Given the description of an element on the screen output the (x, y) to click on. 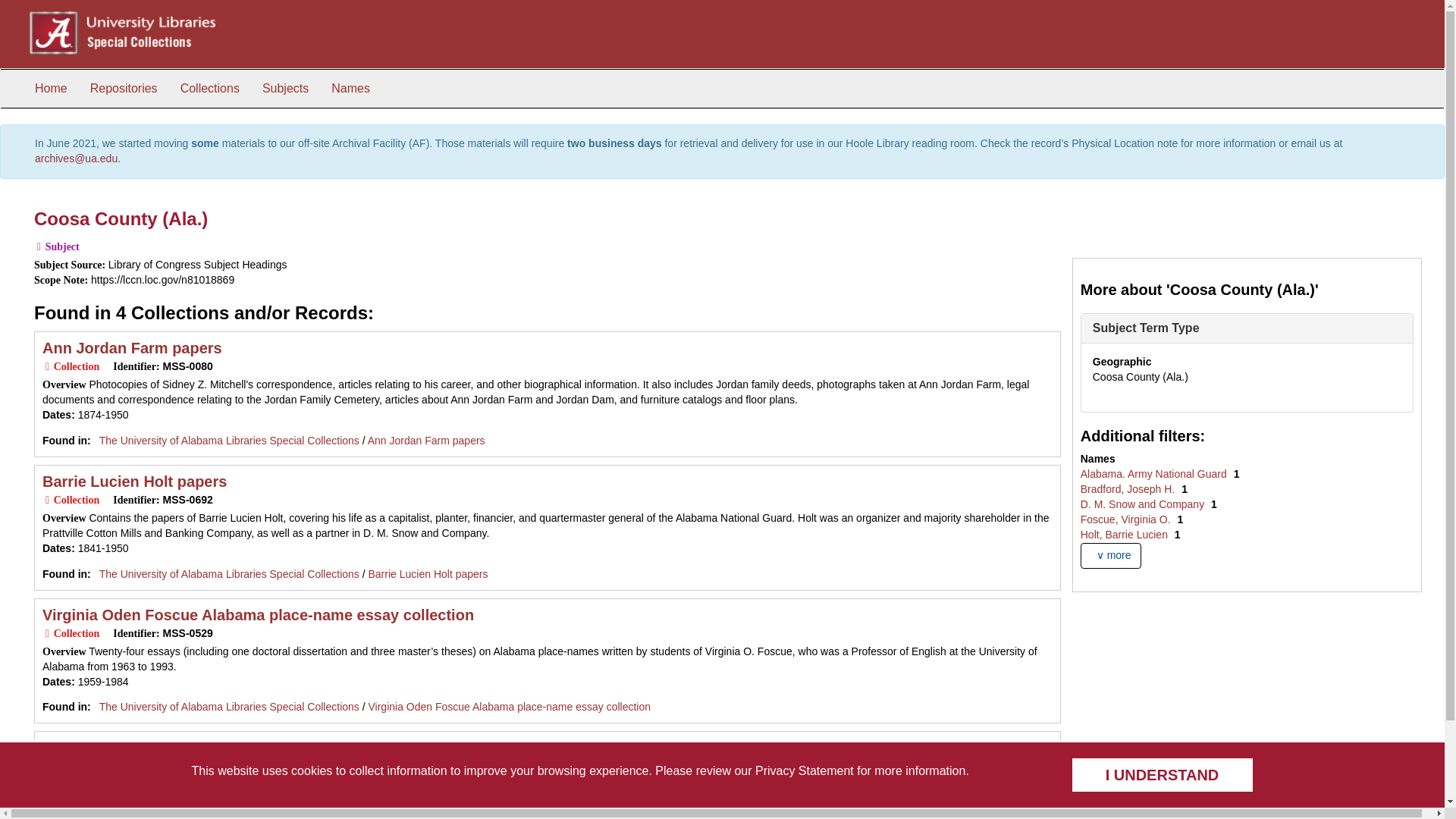
Bradford, Joseph H. (1128, 489)
Ann Jordan Farm papers (132, 347)
The University of Alabama Libraries Special Collections (229, 706)
Ann Jordan Farm papers (426, 440)
Filter By 'D. M. Snow and Company' (1143, 503)
The University of Alabama Libraries Special Collections (229, 573)
Virginia Oden Foscue Alabama place-name essay collection (258, 614)
Joseph H. Bradford Accounts (149, 747)
Subject Term Type (1146, 327)
translation missing: en.dates (56, 680)
